Given the description of an element on the screen output the (x, y) to click on. 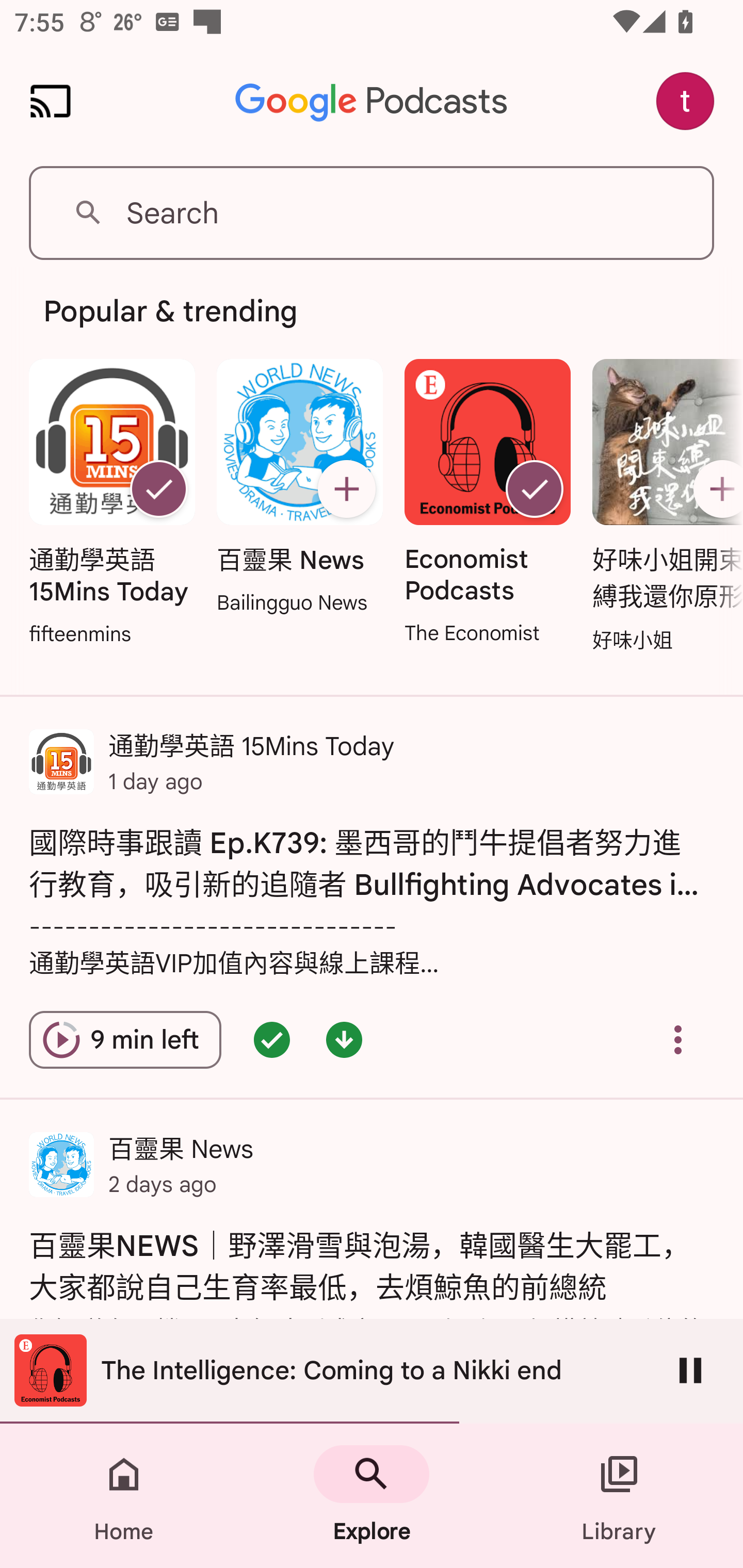
Cast. Disconnected (50, 101)
Search (371, 212)
百靈果 News Subscribe 百靈果 News Bailingguo News (299, 488)
好味小姐開束縛我還你原形 Subscribe 好味小姐開束縛我還你原形 好味小姐 (662, 507)
Unsubscribe (158, 489)
Subscribe (346, 489)
Unsubscribe (534, 489)
Subscribe (714, 489)
Episode queued - double tap for options (271, 1040)
Episode downloaded - double tap for options (344, 1040)
Overflow menu (677, 1040)
Pause (690, 1370)
Home (123, 1495)
Library (619, 1495)
